Given the description of an element on the screen output the (x, y) to click on. 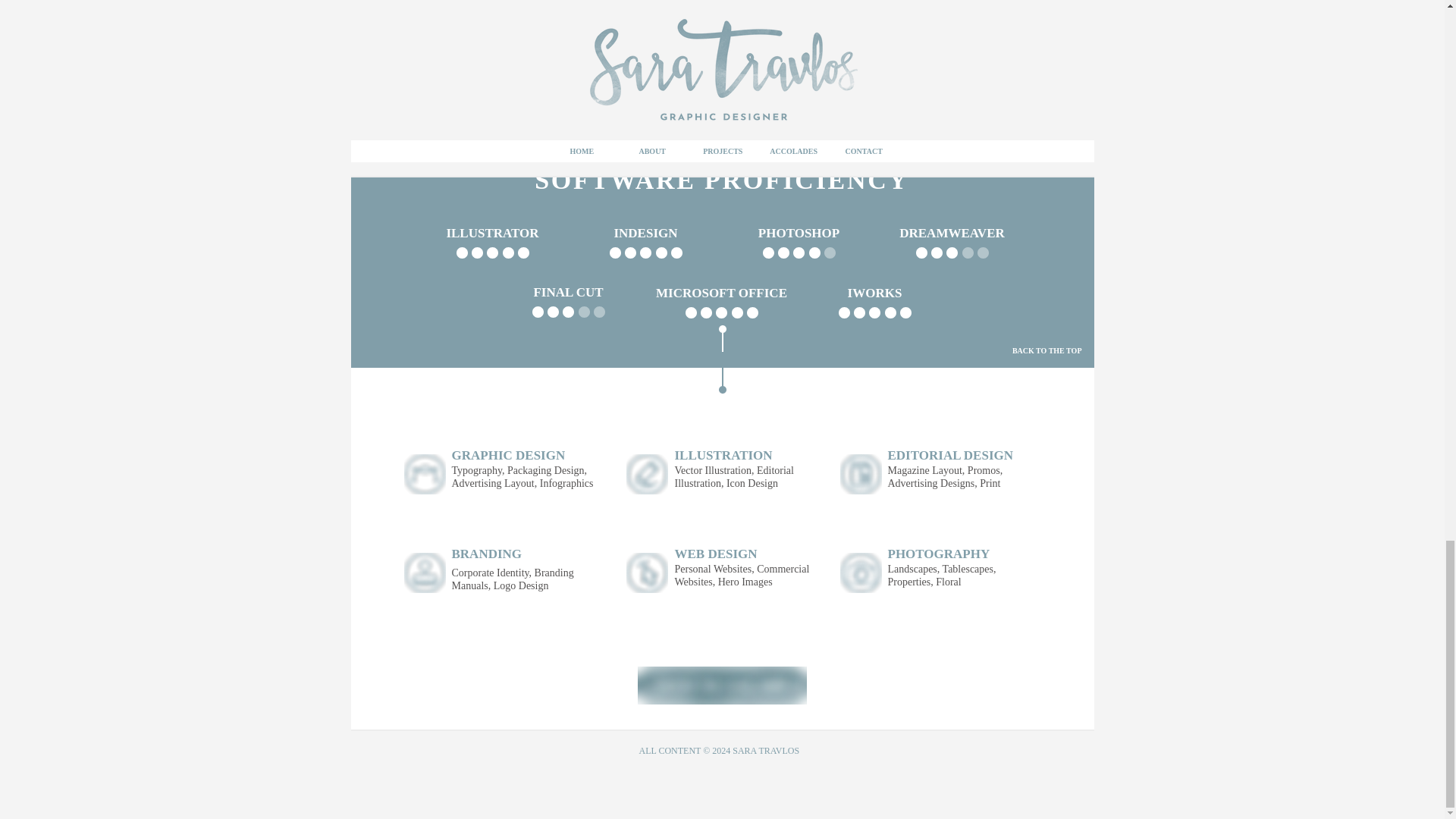
BACK TO THE TOP (1046, 112)
BACK TO THE TOP (1046, 350)
